Given the description of an element on the screen output the (x, y) to click on. 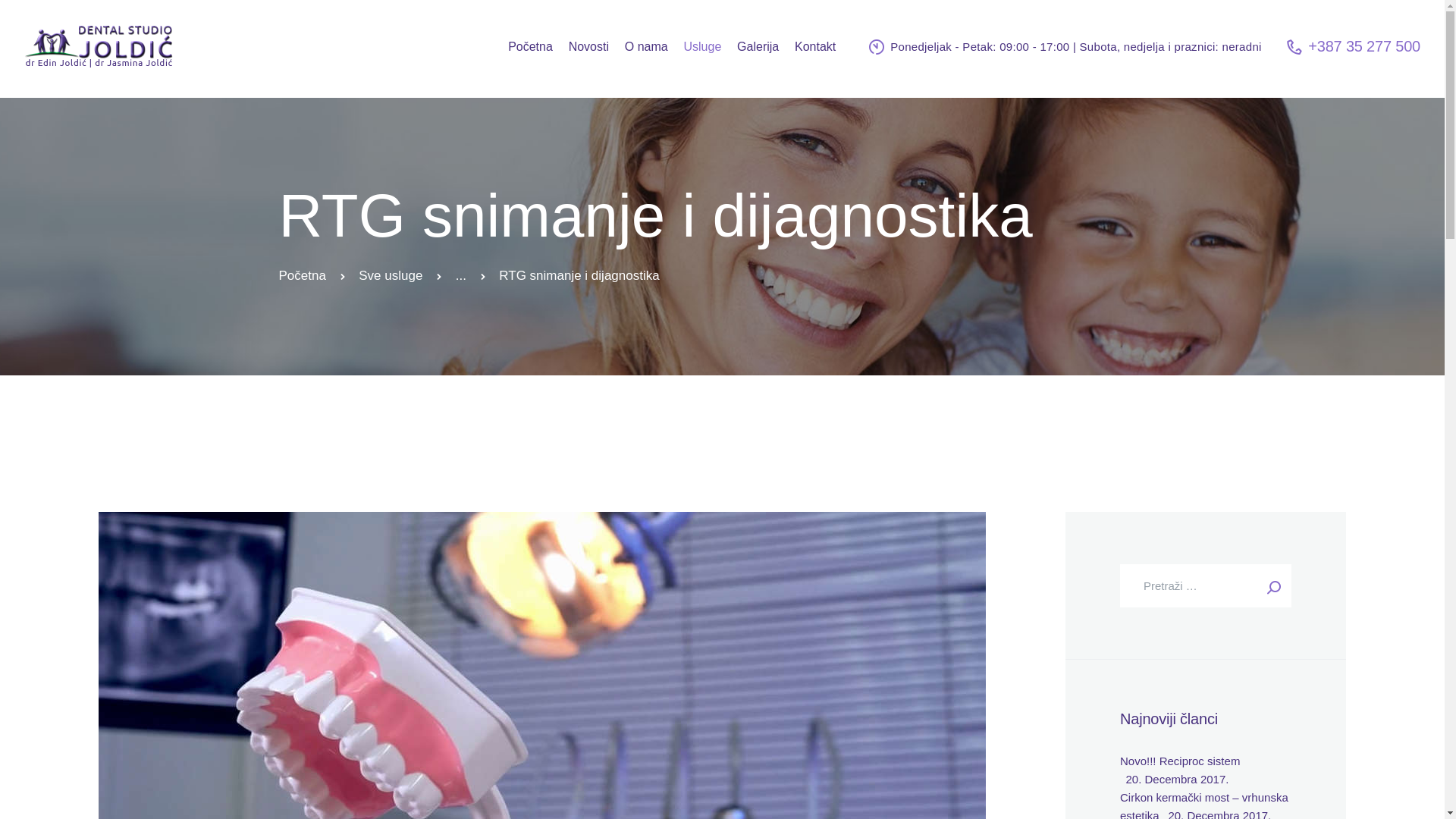
Galerija Element type: text (758, 46)
Novo!!! Reciproc sistem Element type: text (1179, 760)
O nama Element type: text (645, 46)
Kontakt Element type: text (815, 46)
Novosti Element type: text (588, 46)
Pretraga Element type: text (1268, 585)
Usluge Element type: text (702, 46)
Sve usluge Element type: text (390, 275)
